Given the description of an element on the screen output the (x, y) to click on. 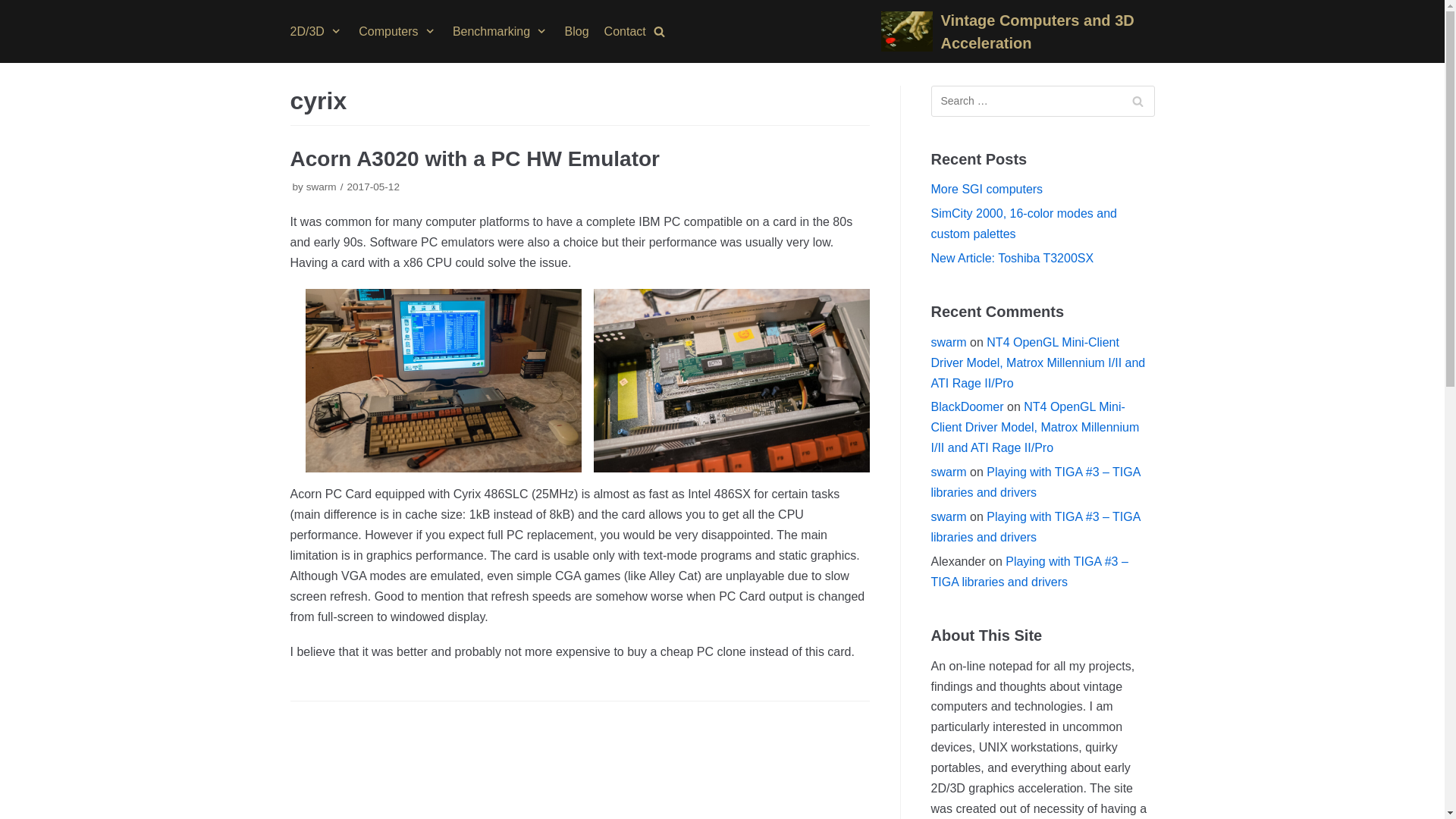
Vintage Computers and 3D Acceleration (1017, 31)
Search (1137, 101)
Skip to content (15, 7)
Posts by swarm (320, 186)
Acorn A3020 with a PC HW Emulator (474, 158)
Blog (576, 31)
Search (1137, 101)
Vintage Computers and 3D Acceleration (1017, 31)
Benchmarking (501, 31)
Contact (625, 31)
swarm (320, 186)
Computers (398, 31)
Search (1235, 409)
Search (1137, 101)
